Given the description of an element on the screen output the (x, y) to click on. 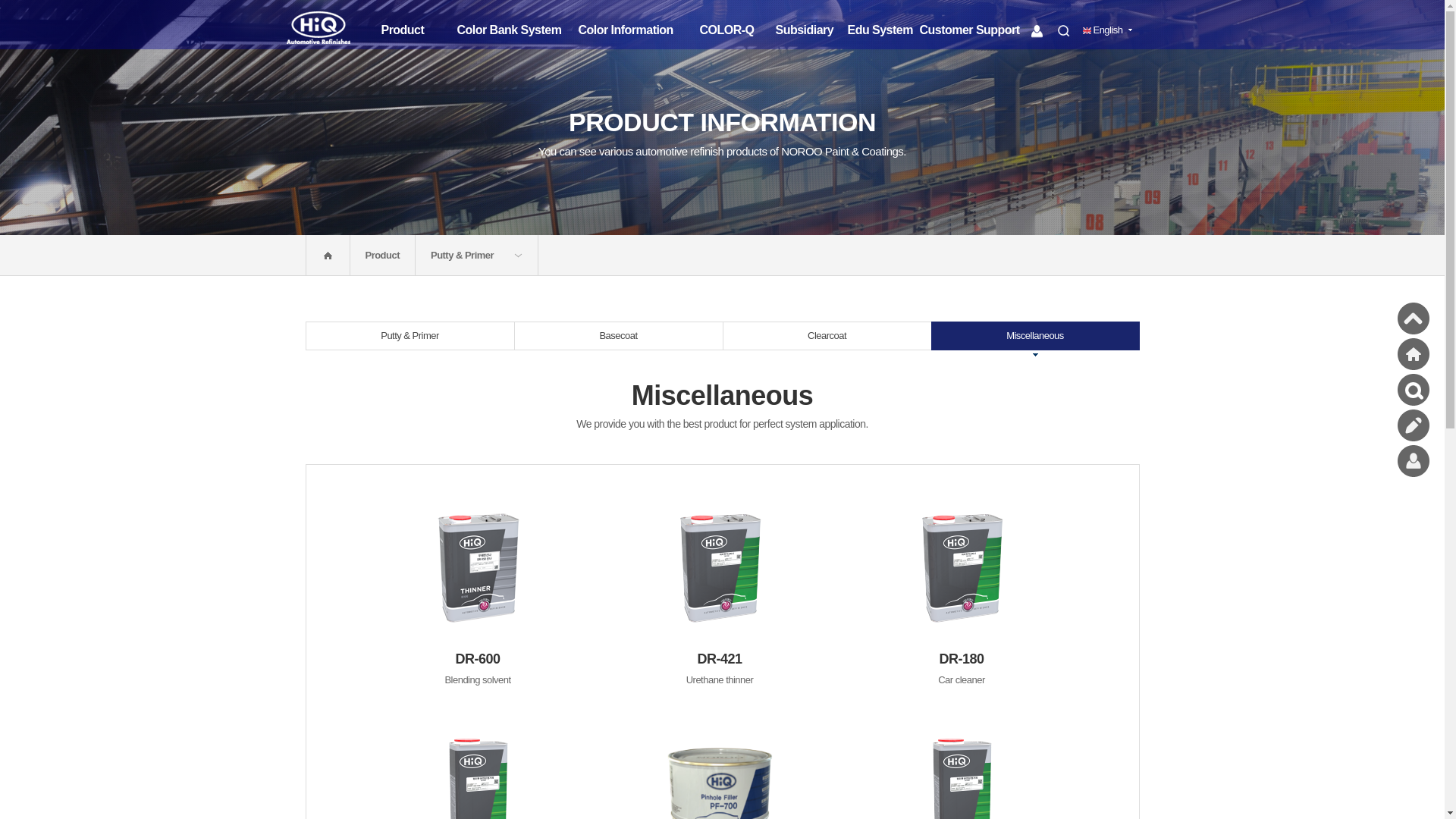
Subsidiary (810, 24)
COLOR-Q (736, 24)
Color Information (638, 24)
Color Bank System (517, 24)
Edu System (883, 24)
Customer Support (983, 24)
Product (418, 24)
HiQ (330, 29)
